Given the description of an element on the screen output the (x, y) to click on. 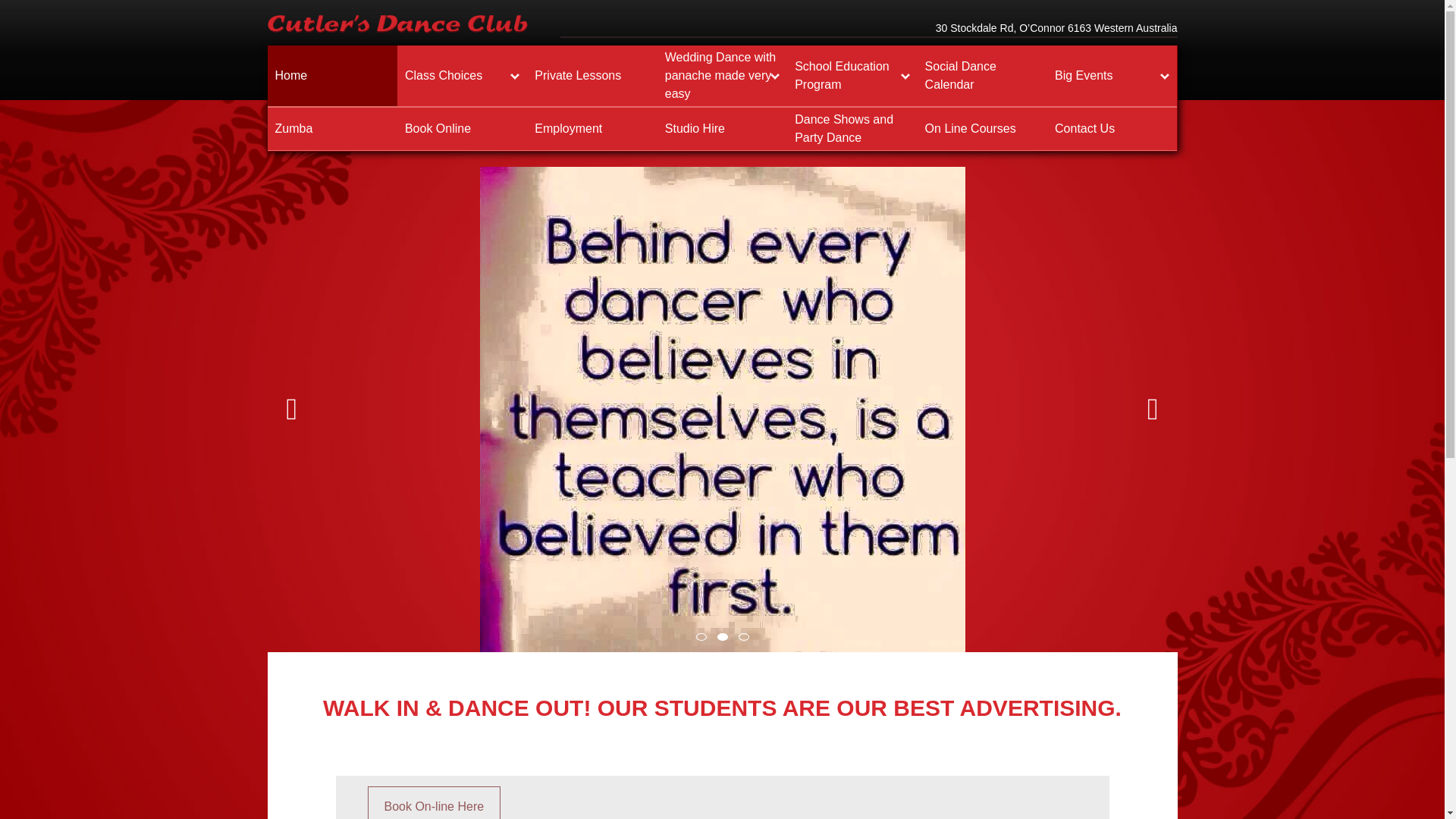
Private Lessons Element type: text (591, 75)
Contact Us Element type: text (1111, 128)
Previous Element type: text (292, 406)
2 Element type: text (722, 635)
Home Element type: text (331, 75)
Studio Hire Element type: text (722, 128)
3 Element type: text (743, 636)
Employment Element type: text (591, 128)
Dance Shows and Party Dance Element type: text (851, 128)
Book Online Element type: text (462, 128)
Social Dance Calendar Element type: text (982, 75)
Next Element type: text (1152, 407)
On Line Courses Element type: text (982, 128)
Big Events Element type: text (1111, 75)
Wedding Dance with panache made very easy Element type: text (722, 75)
School Education Program Element type: text (851, 75)
Class Choices Element type: text (462, 75)
Cutlers Dance Club Element type: hover (396, 24)
1 Element type: text (701, 633)
Zumba Element type: text (331, 128)
